Given the description of an element on the screen output the (x, y) to click on. 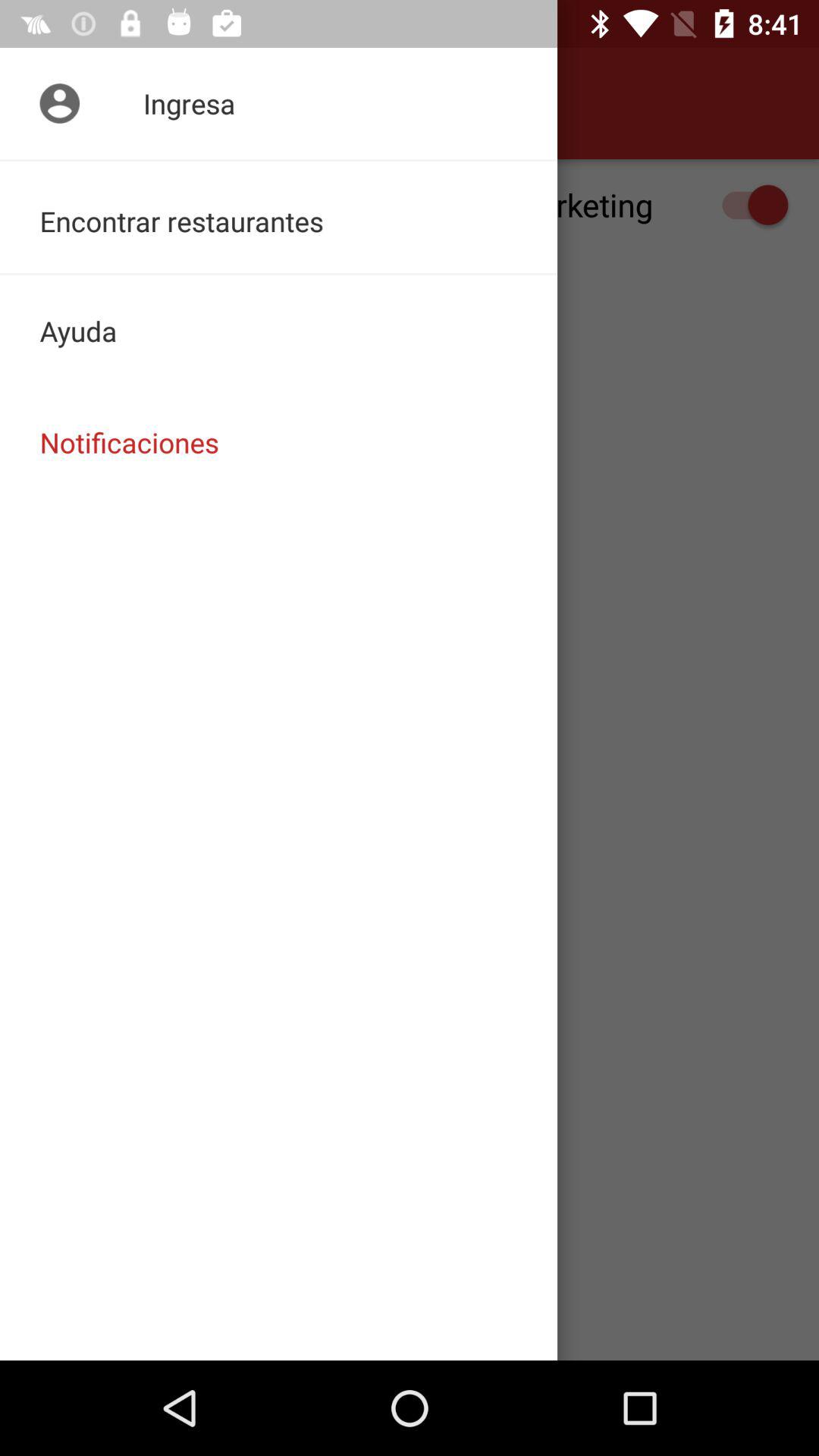
select the icon next to notificationes icon (55, 103)
